Given the description of an element on the screen output the (x, y) to click on. 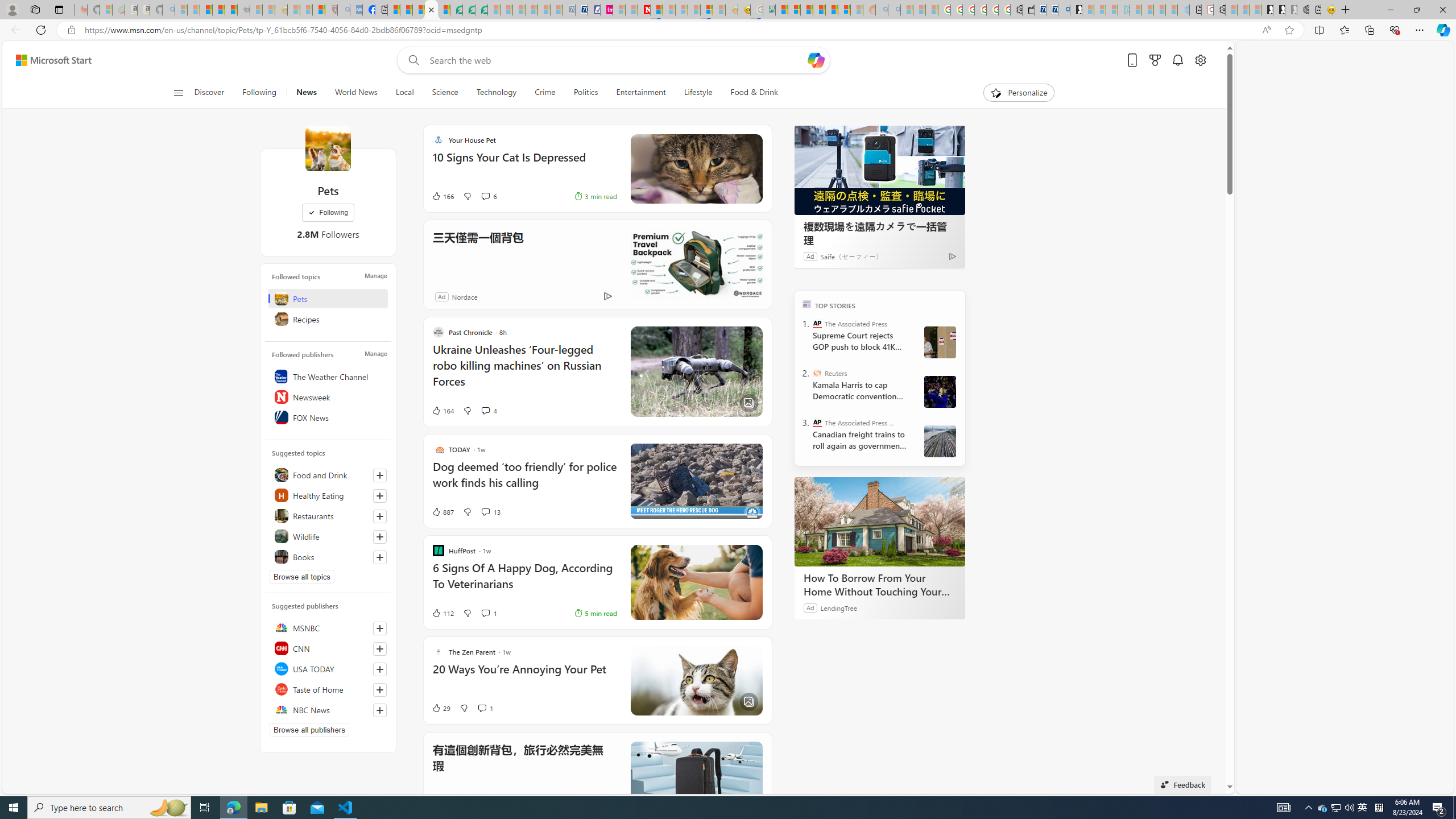
Kinda Frugal - MSN (832, 9)
Wallet (1028, 9)
View comments 4 Comment (485, 411)
Jobs - lastminute.com Investor Portal (606, 9)
Terms of Use Agreement (468, 9)
LendingTree (838, 607)
